Given the description of an element on the screen output the (x, y) to click on. 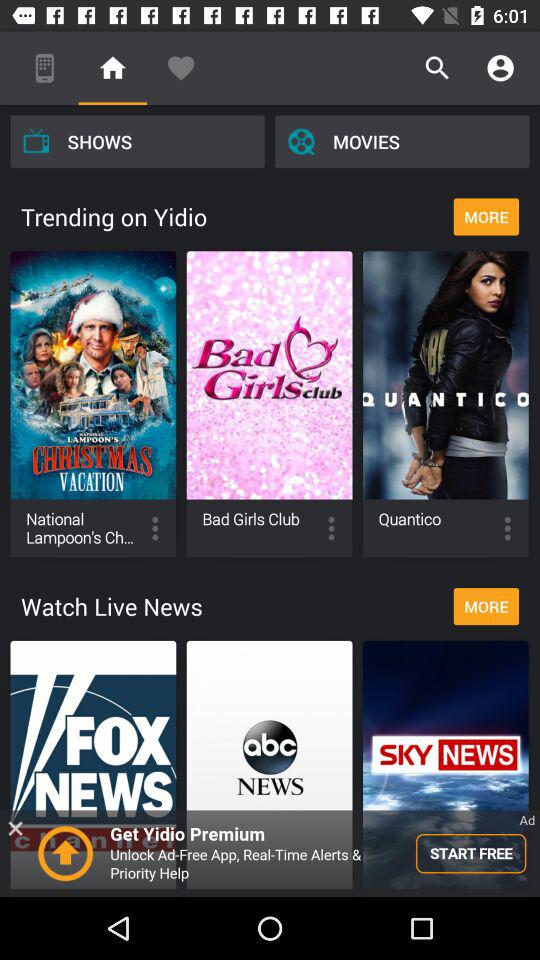
click the icon above trending on yidio (137, 141)
